Given the description of an element on the screen output the (x, y) to click on. 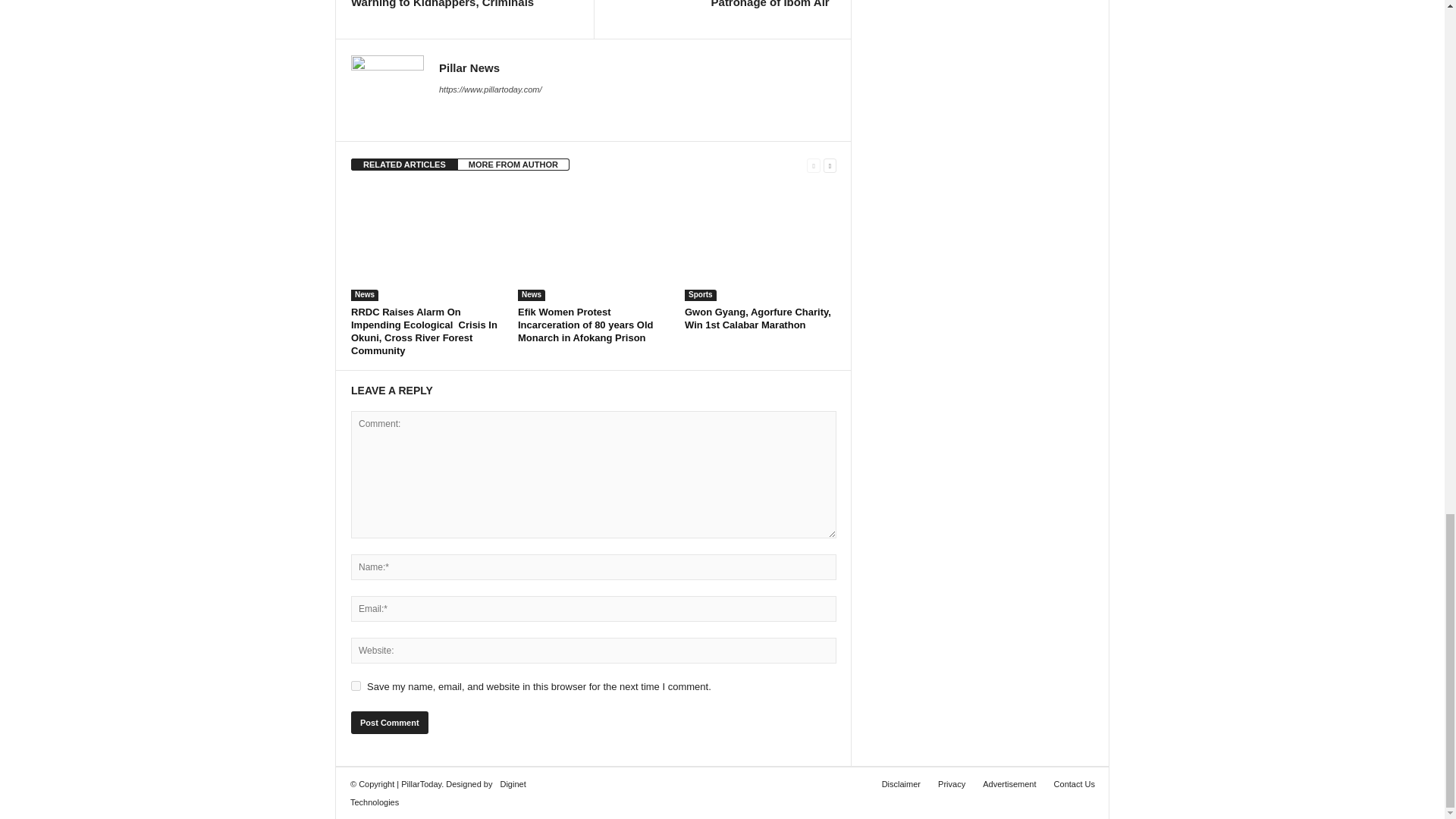
Post Comment (389, 722)
yes (355, 685)
